Given the description of an element on the screen output the (x, y) to click on. 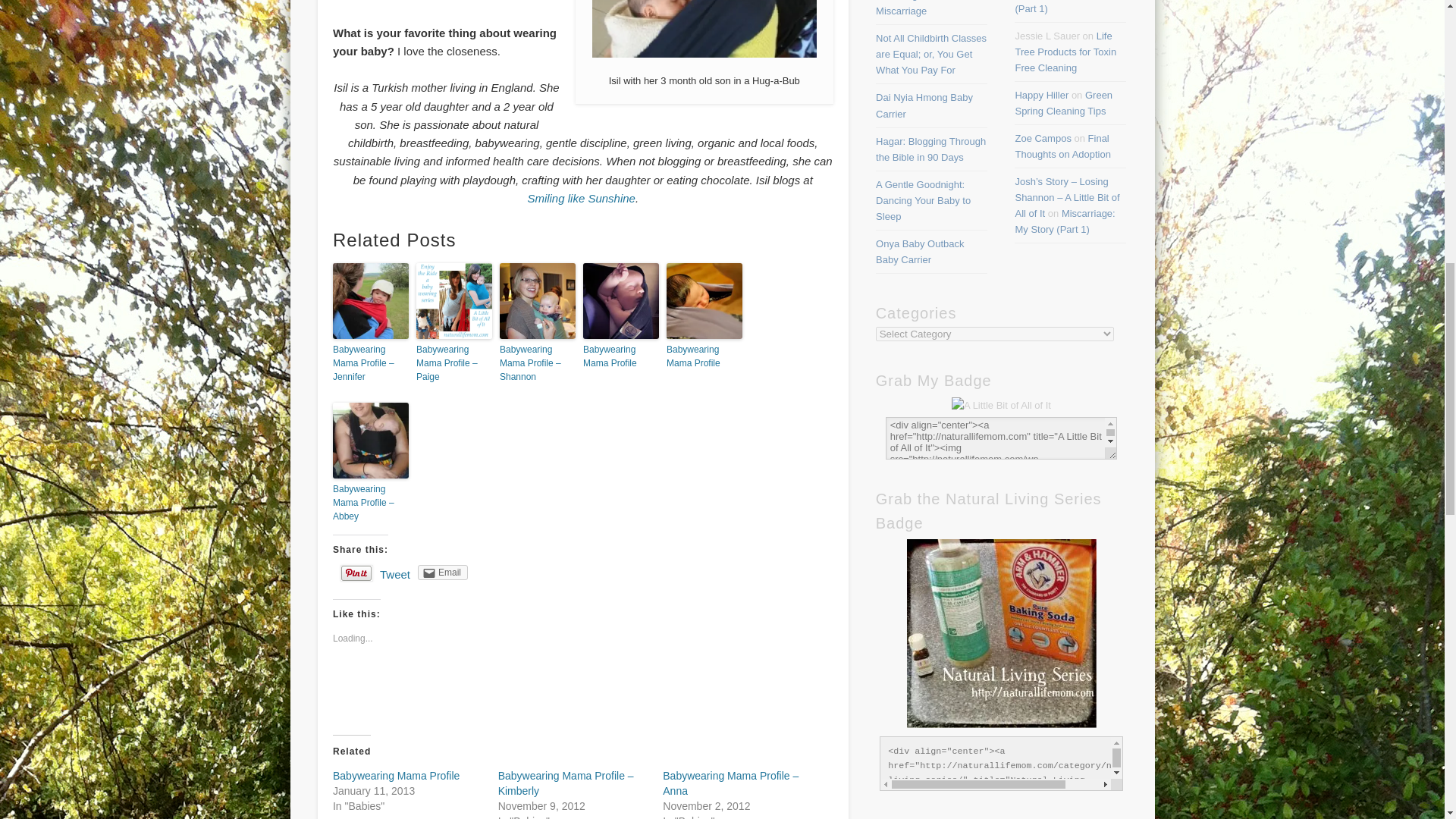
Click to email this to a friend (442, 572)
Babywearing Mama Profile (396, 775)
Like or Reblog (582, 690)
Isil with her 3 month old son in a Hug-a-Bub (704, 29)
Smiling like Sunshine (580, 197)
